Given the description of an element on the screen output the (x, y) to click on. 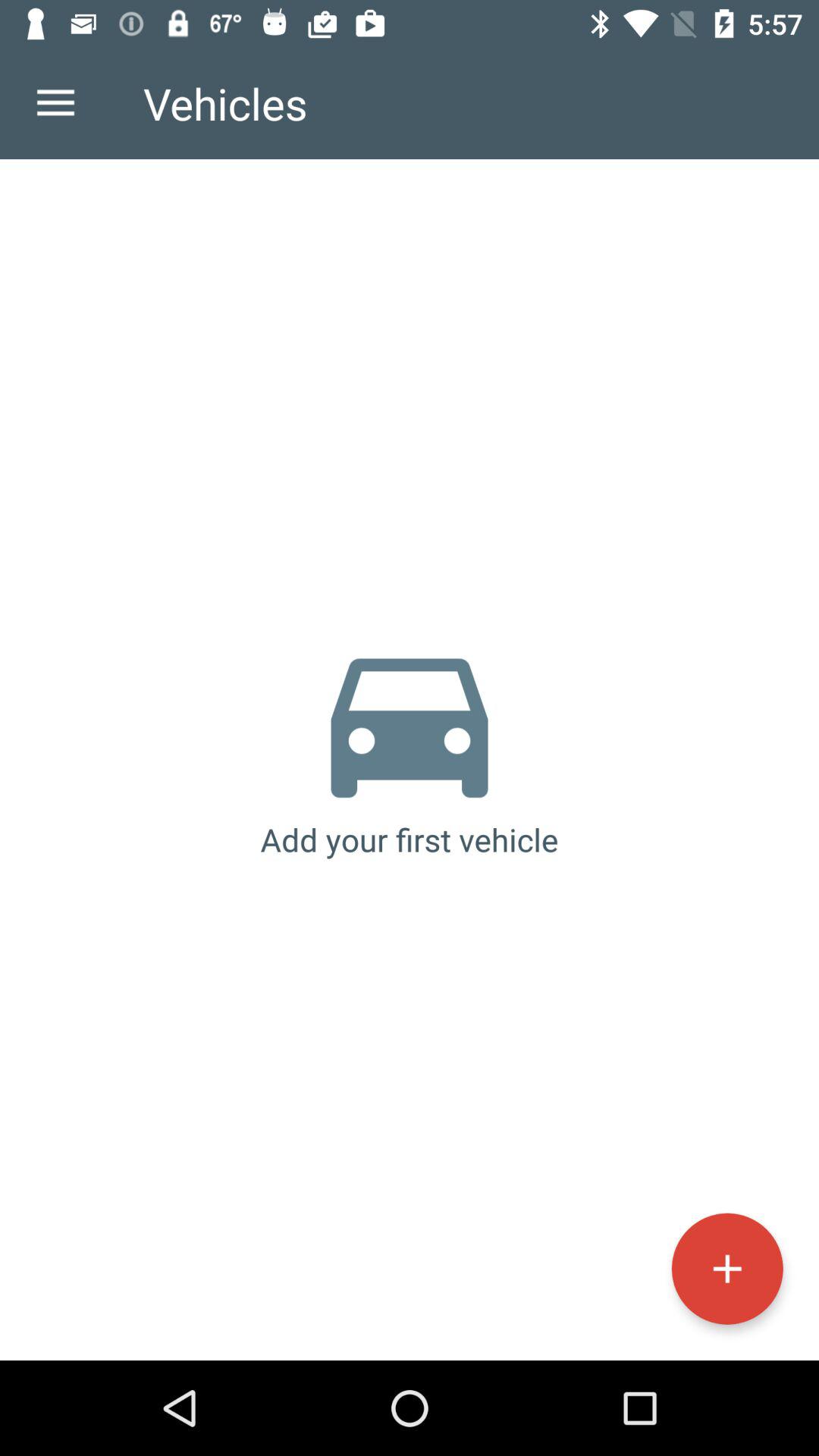
the button is used to add (727, 1268)
